Given the description of an element on the screen output the (x, y) to click on. 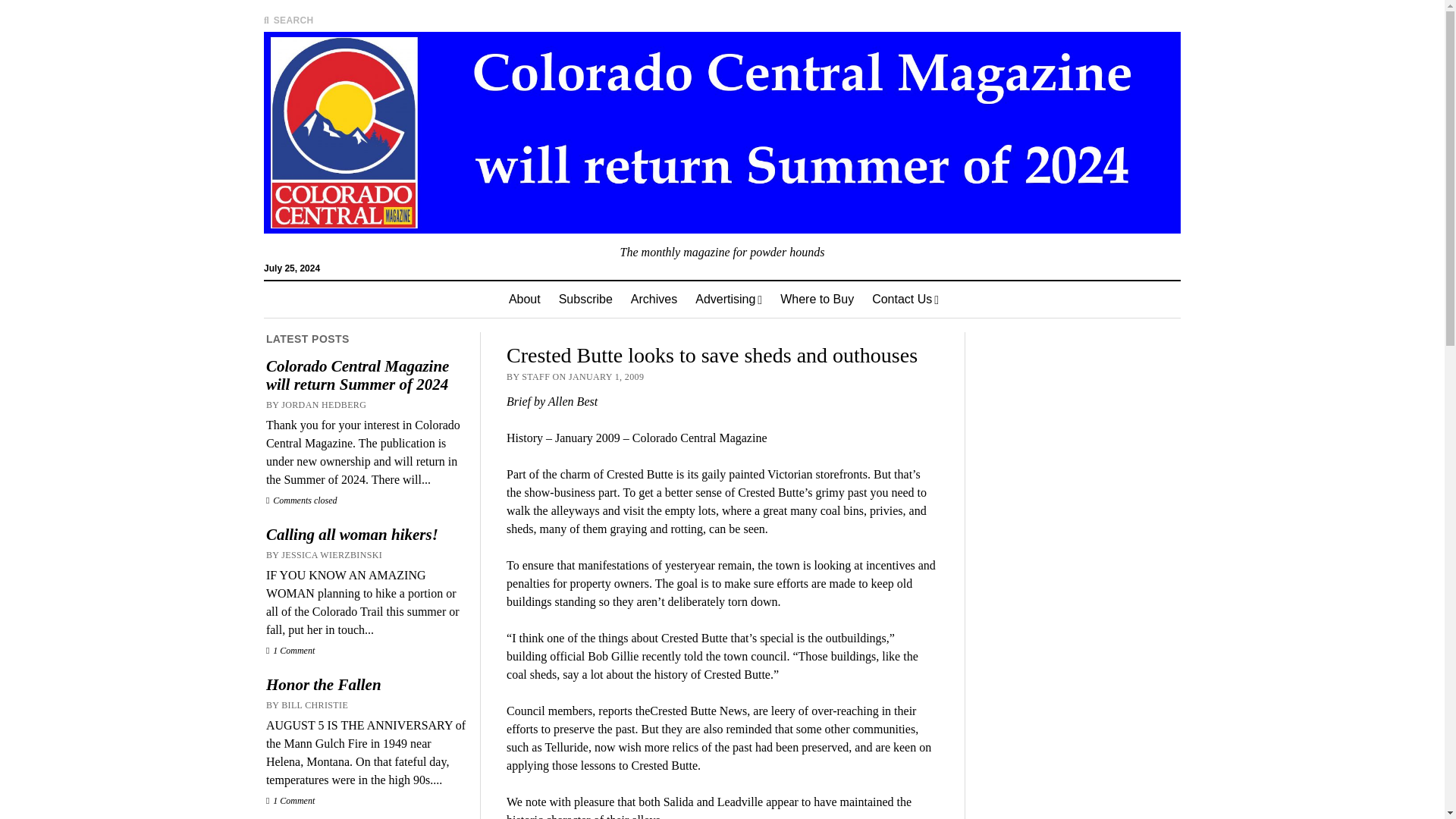
Contact Us (905, 299)
SEARCH (288, 20)
1 Comment (290, 800)
1 Comment (290, 650)
About (524, 299)
Where to Buy (817, 299)
Honor the Fallen (365, 684)
Archives (653, 299)
Subscribe (585, 299)
Search (945, 129)
Calling all woman hikers! (365, 534)
Advertising (728, 299)
Colorado Central Magazine will return Summer of 2024 (365, 375)
Comments closed (301, 500)
